Given the description of an element on the screen output the (x, y) to click on. 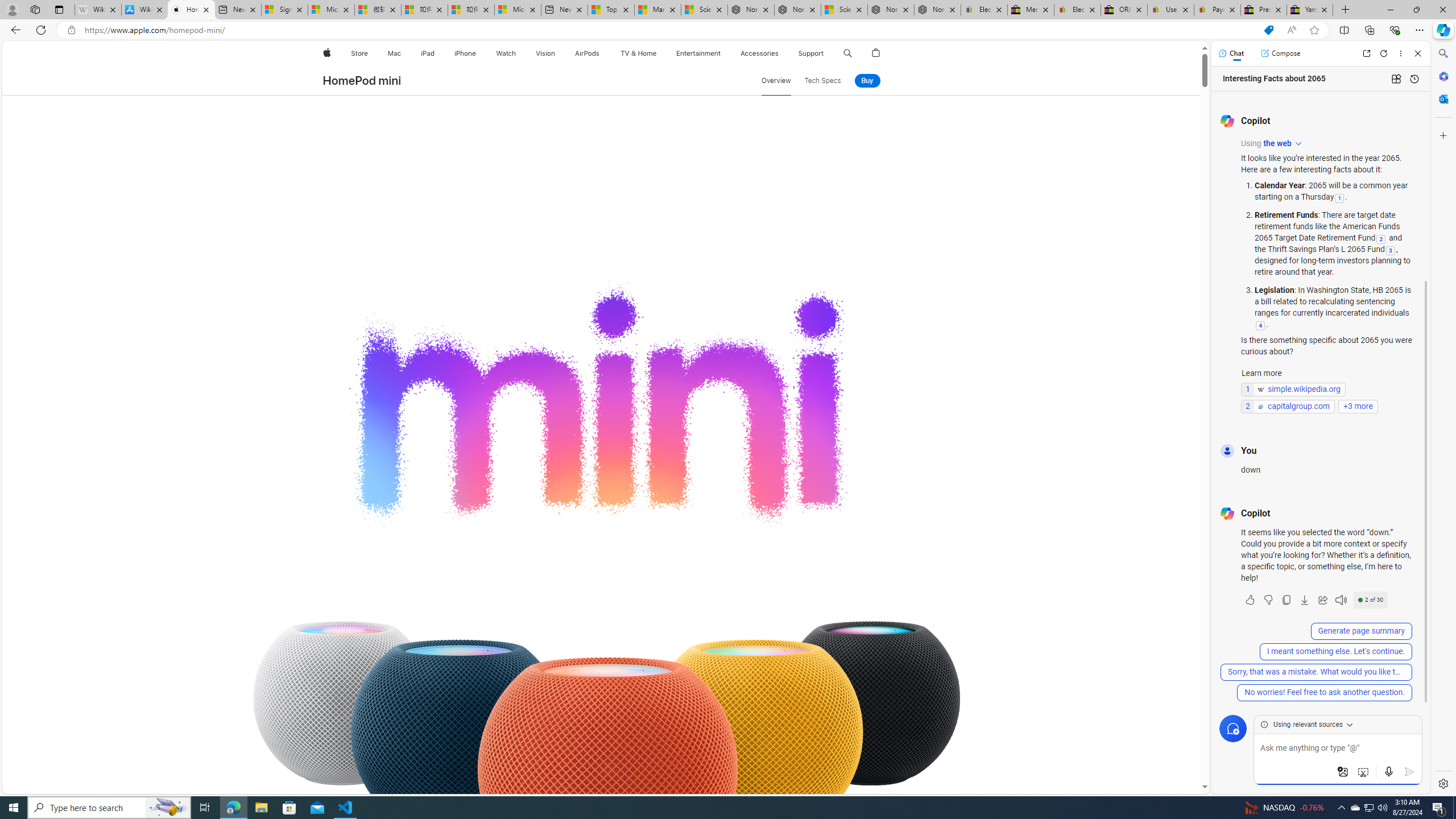
iPhone (464, 53)
Tech Specs (822, 80)
Support menu (825, 53)
Mac menu (402, 53)
Nordace - FAQ (937, 9)
Entertainment menu (722, 53)
